Given the description of an element on the screen output the (x, y) to click on. 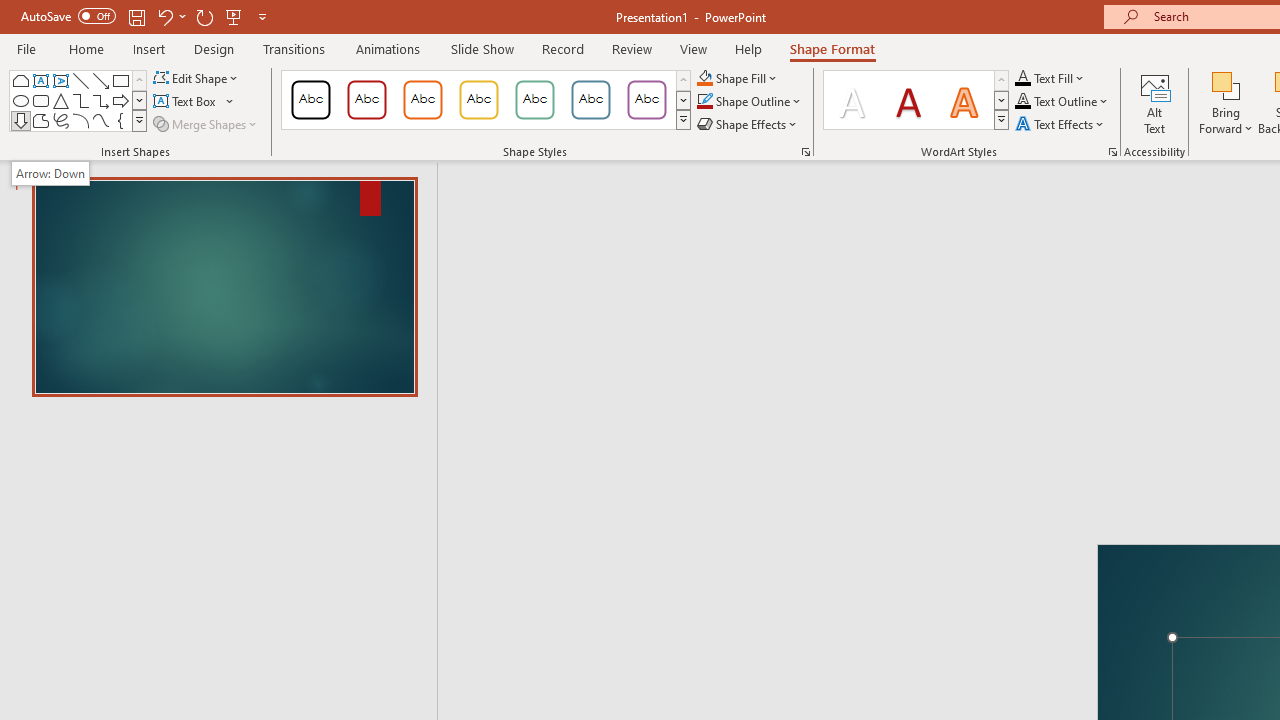
Freeform: Scribble (60, 120)
Vertical Text Box (60, 80)
Curve (100, 120)
Text Outline RGB(0, 0, 0) (1023, 101)
Shape Fill Orange, Accent 2 (704, 78)
